Given the description of an element on the screen output the (x, y) to click on. 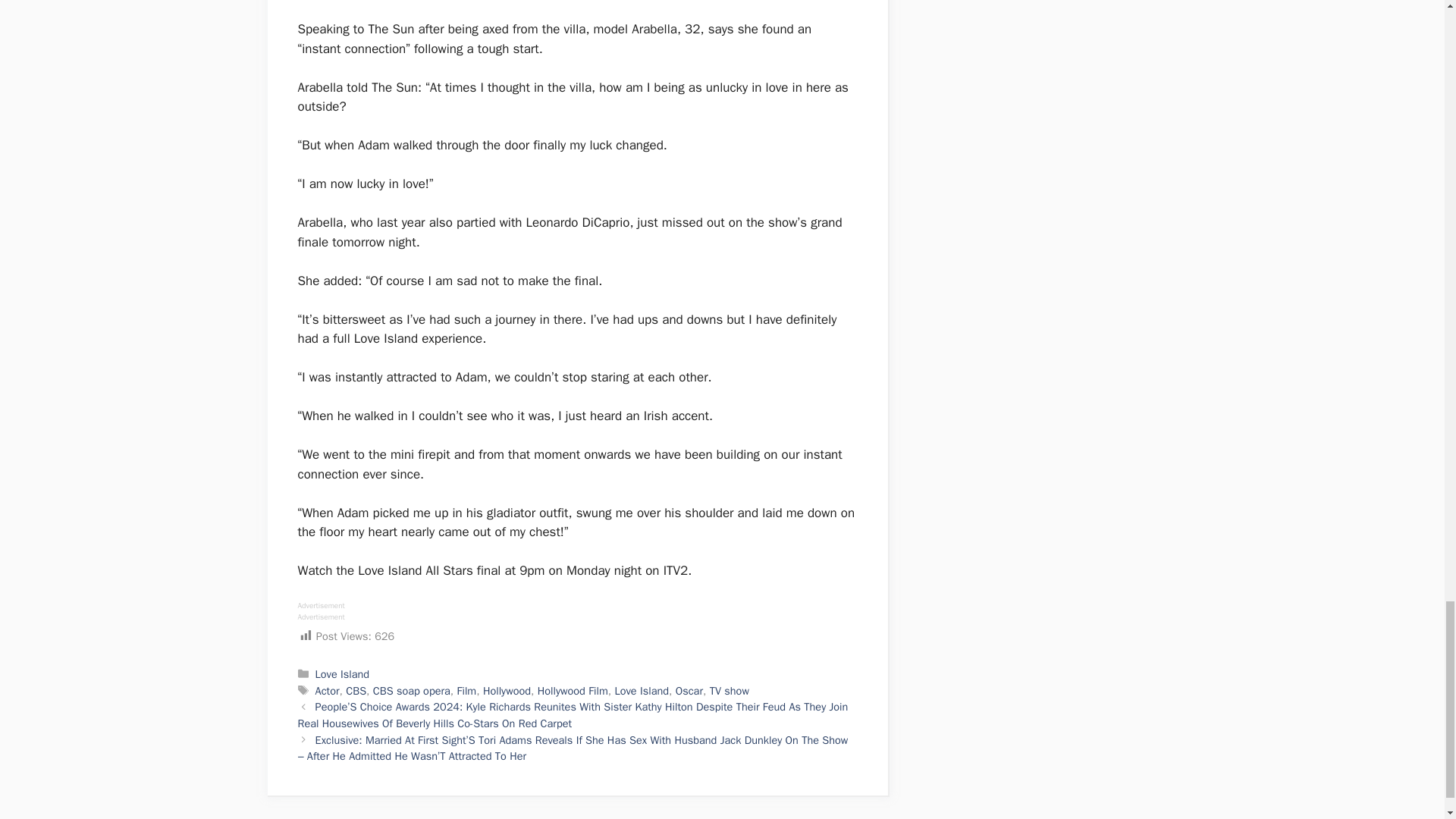
Love Island (342, 673)
Hollywood Film (572, 690)
CBS soap opera (410, 690)
Hollywood (507, 690)
Love Island (641, 690)
Oscar (689, 690)
Actor (327, 690)
Film (467, 690)
TV show (729, 690)
CBS (356, 690)
